Given the description of an element on the screen output the (x, y) to click on. 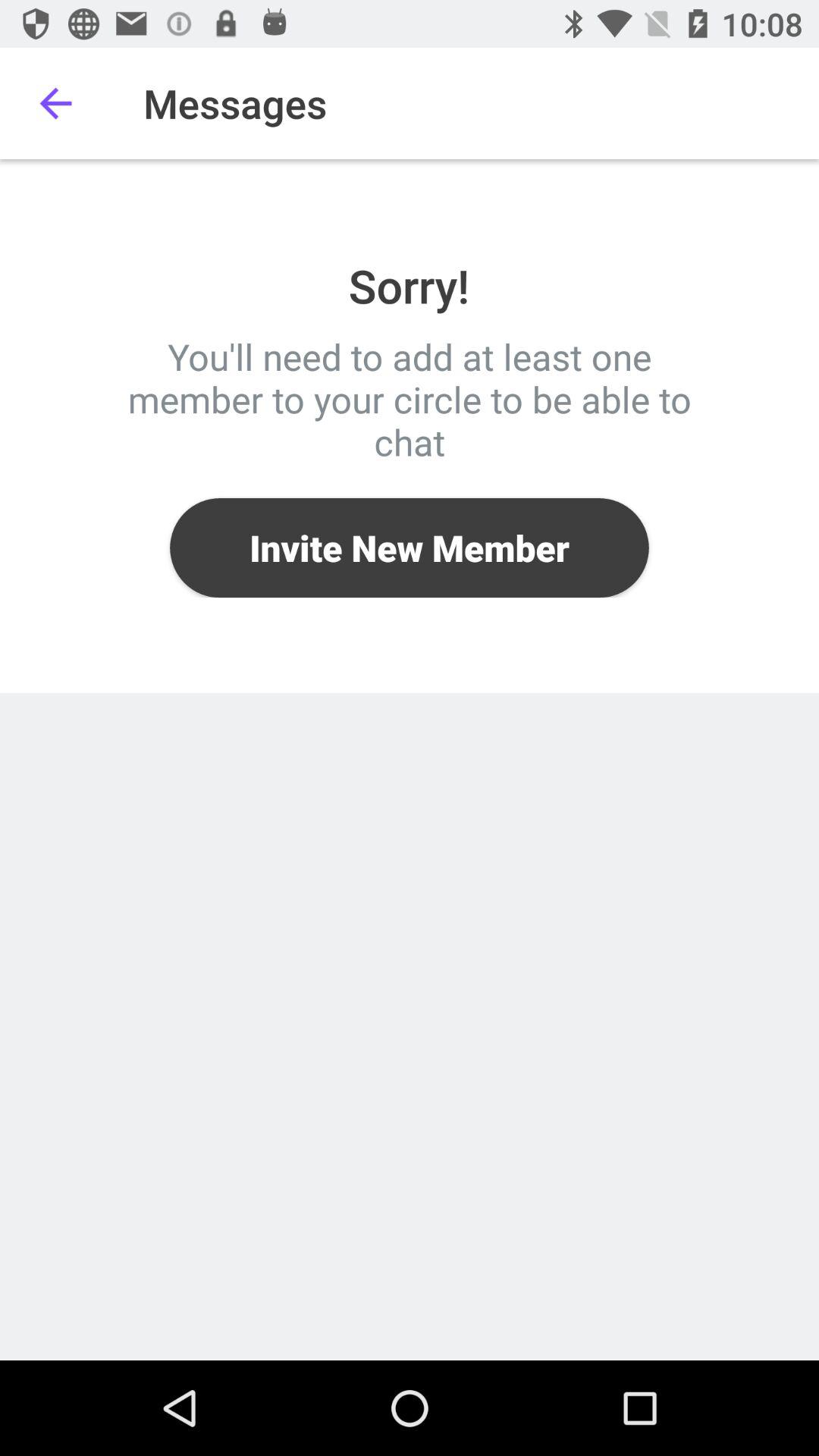
turn off the invite new member icon (409, 547)
